Given the description of an element on the screen output the (x, y) to click on. 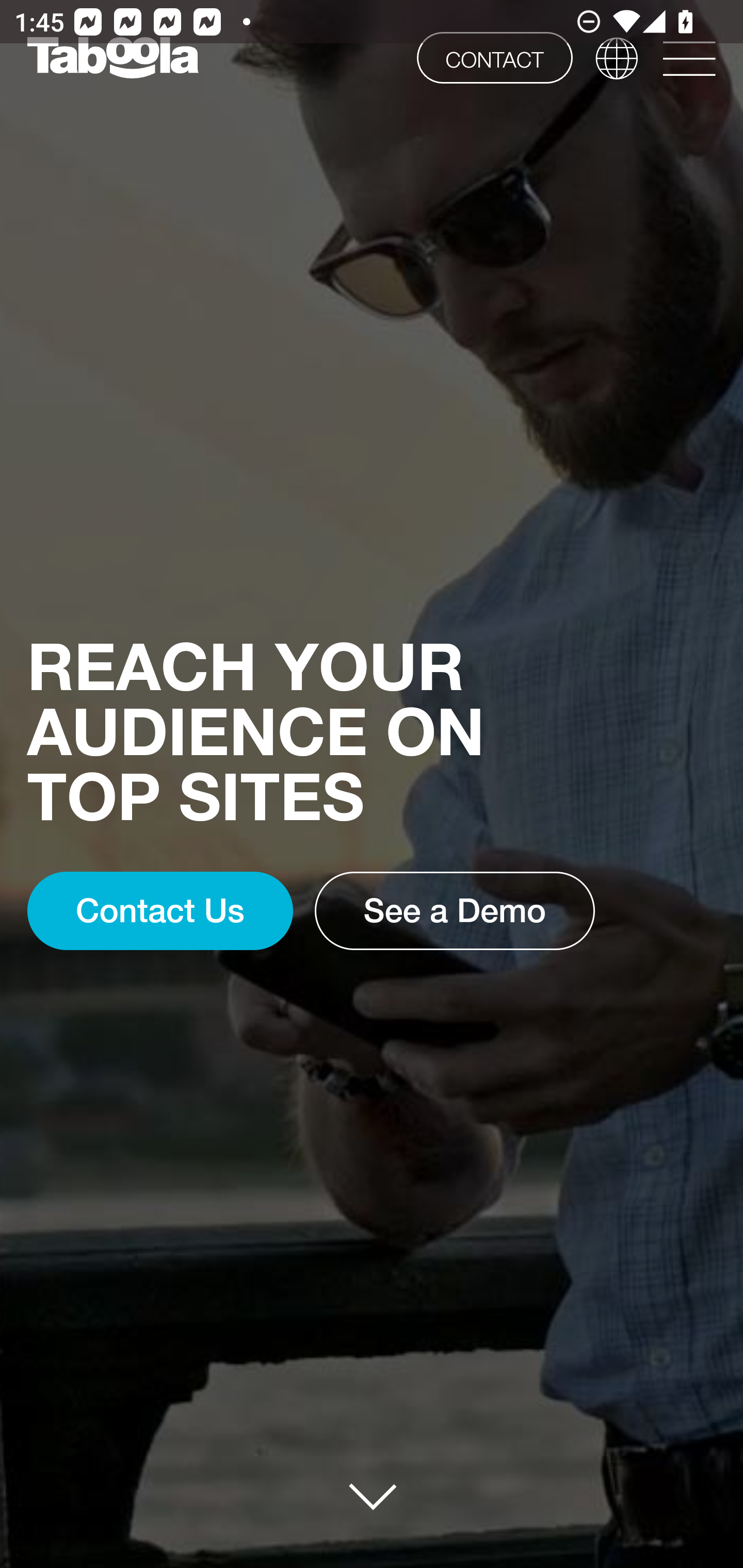
CONTACT (494, 56)
www.taboola (112, 57)
Contact Us (159, 910)
See a Demo (454, 910)
advertise#slider (372, 1496)
